Given the description of an element on the screen output the (x, y) to click on. 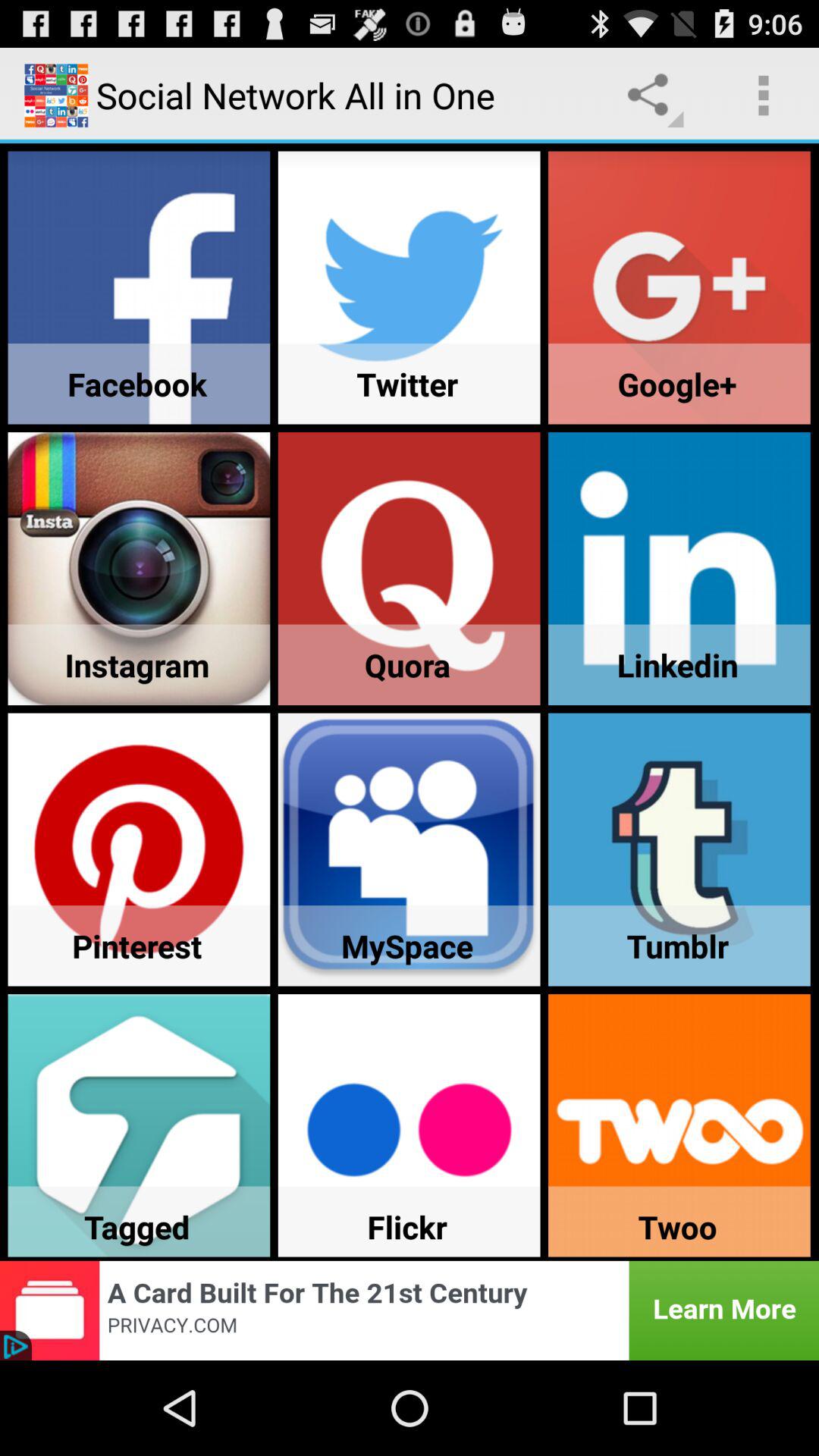
view advertising (409, 1310)
